Given the description of an element on the screen output the (x, y) to click on. 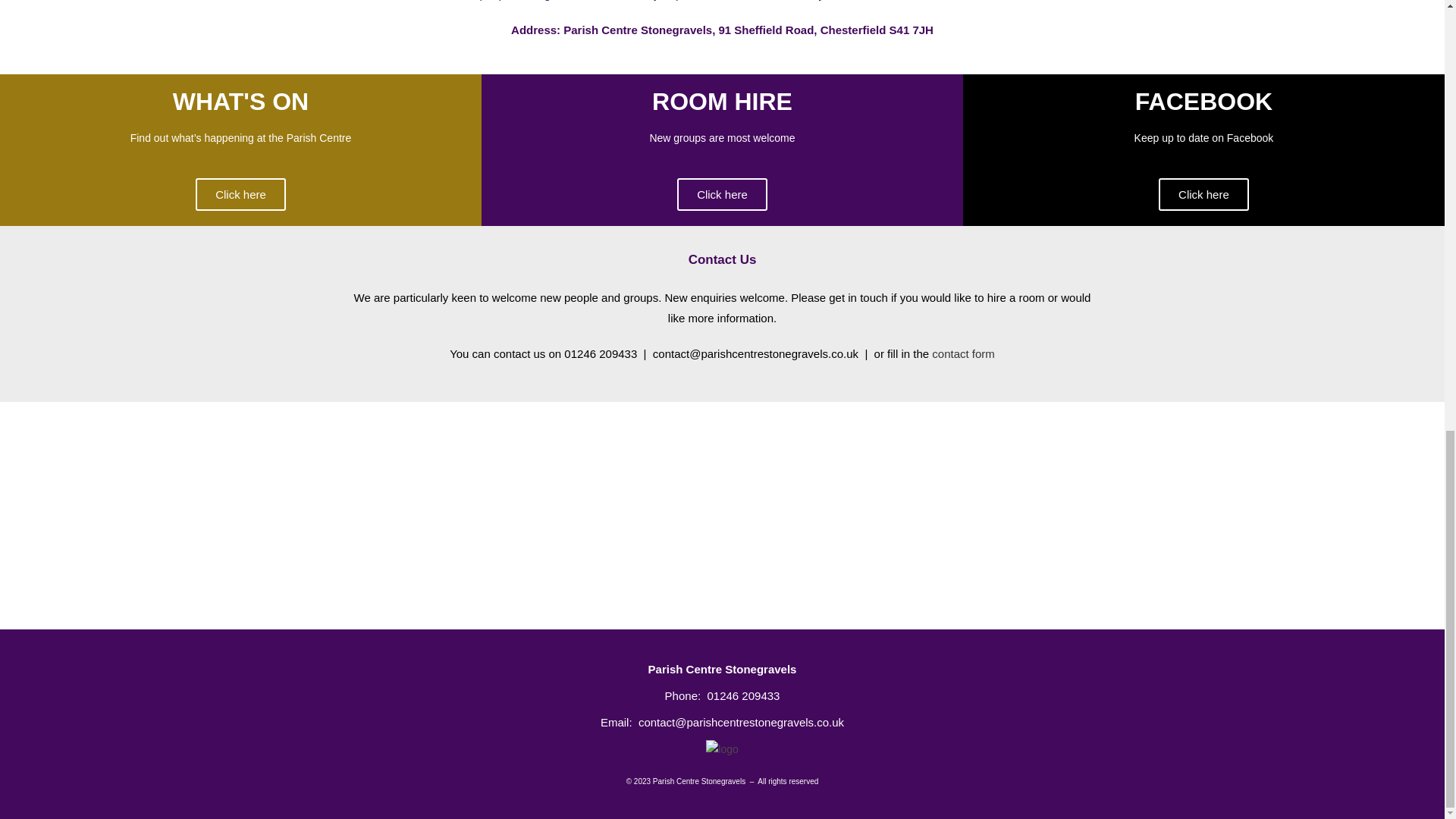
logo (722, 749)
Click here (240, 194)
Click here (722, 194)
contact form (962, 353)
Click here (1203, 194)
